Given the description of an element on the screen output the (x, y) to click on. 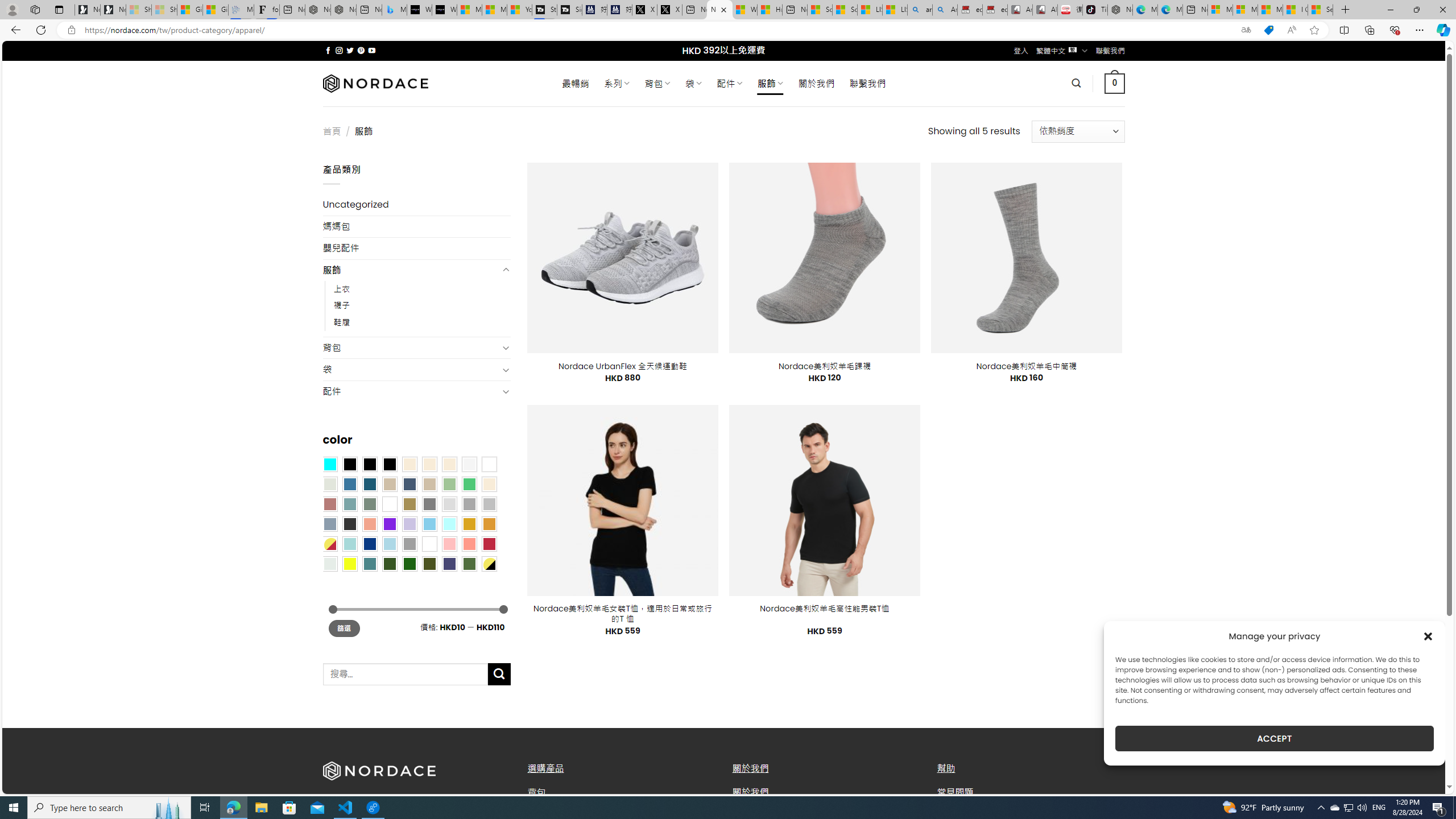
This site has coupons! Shopping in Microsoft Edge (1268, 29)
Uncategorized (416, 204)
